Given the description of an element on the screen output the (x, y) to click on. 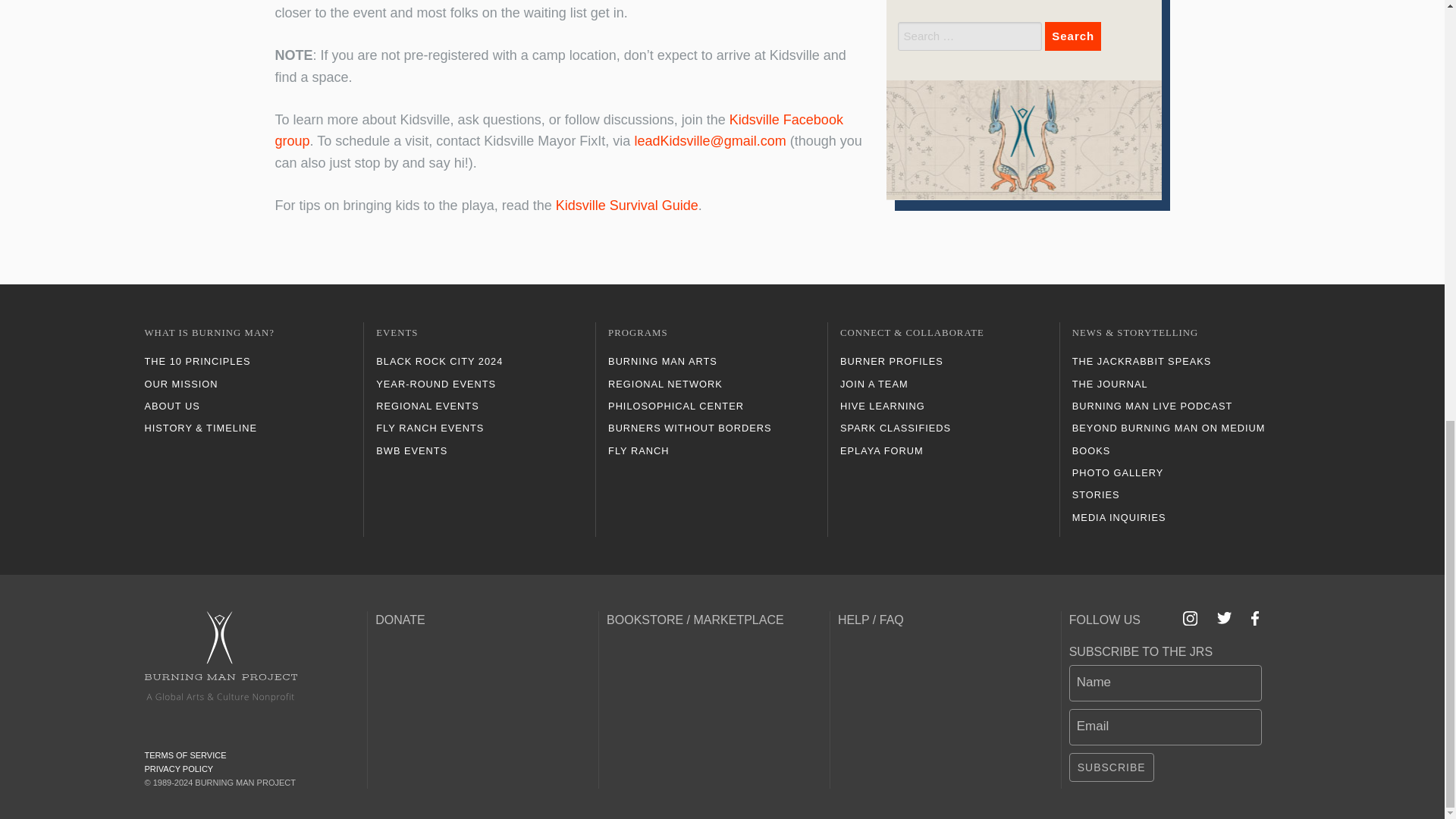
LINK TO BURNING MAN TWITTER (1224, 617)
Search (1072, 36)
LINK TO BURNING MAN INSTAGRAM (1190, 617)
Search (1072, 36)
